Given the description of an element on the screen output the (x, y) to click on. 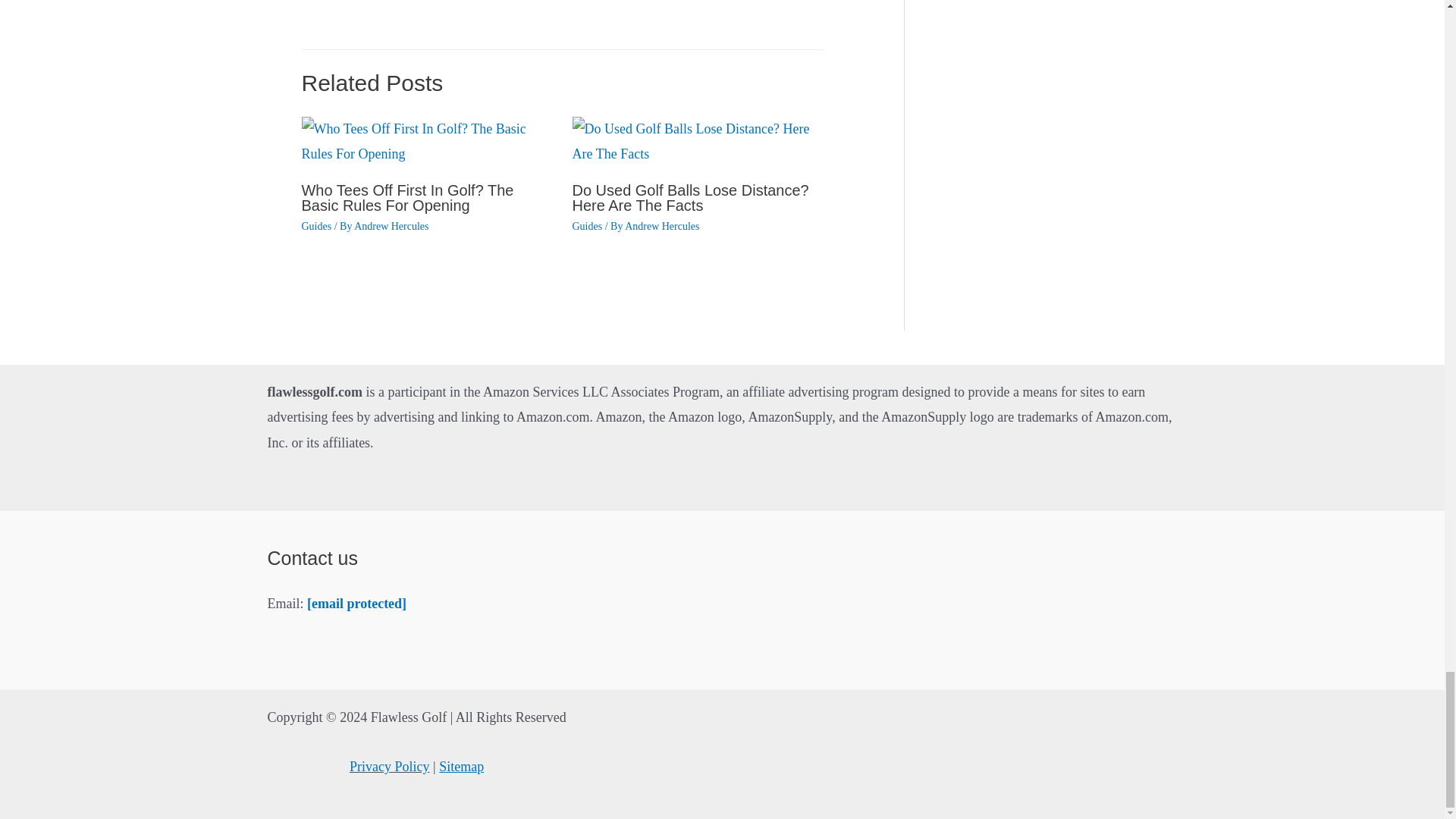
View all posts by Andrew Hercules (390, 225)
View all posts by Andrew Hercules (661, 225)
